Given the description of an element on the screen output the (x, y) to click on. 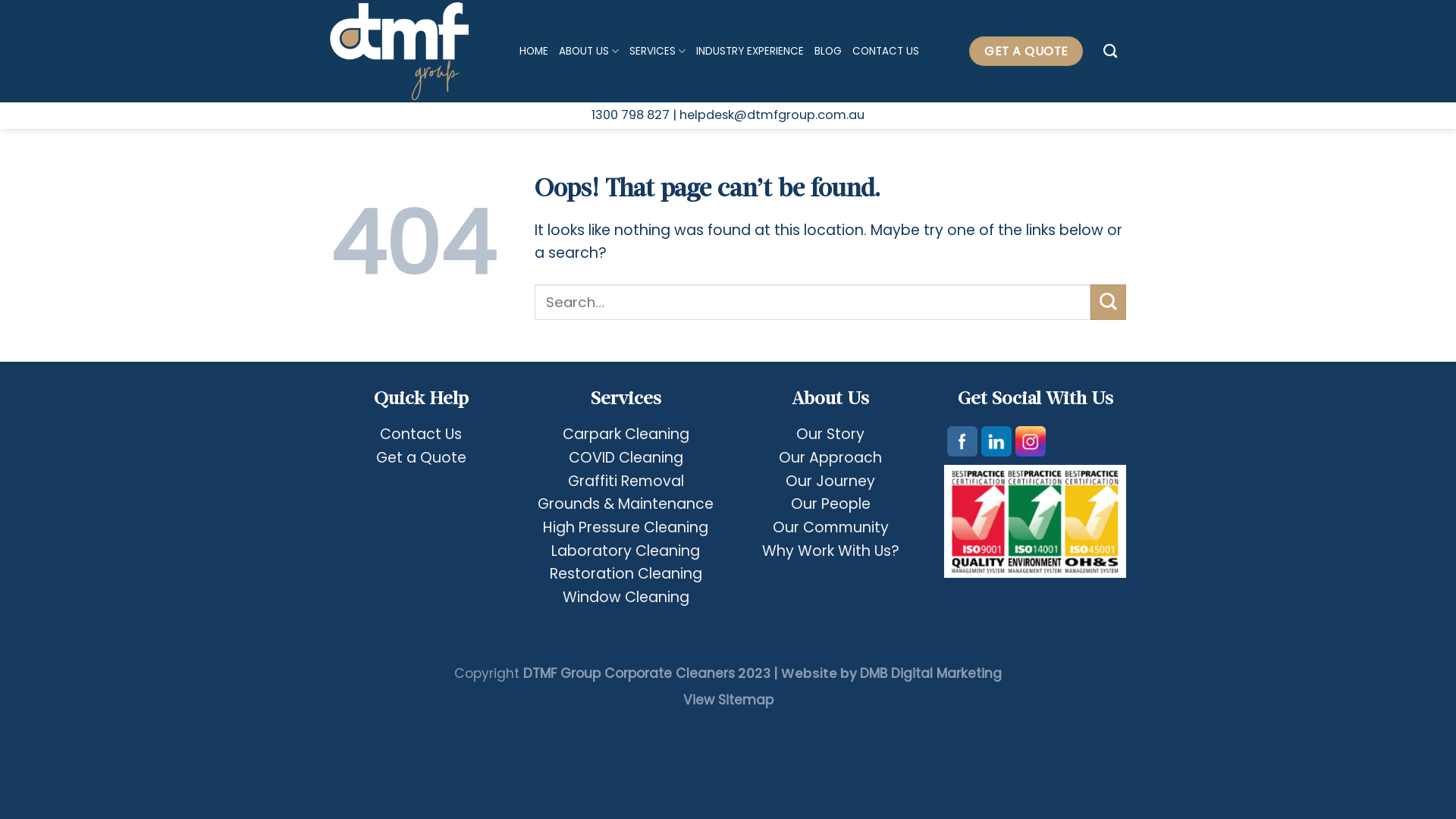
SERVICES Element type: text (657, 50)
Instagram Element type: hover (1030, 441)
COVID Cleaning Element type: text (625, 457)
LinkedIn Element type: hover (996, 441)
Facebook Element type: hover (962, 441)
Our Community Element type: text (829, 527)
DTMF Group Corporate Cleaners Element type: text (628, 673)
INDUSTRY EXPERIENCE Element type: text (749, 50)
Laboratory Cleaning Element type: text (625, 550)
1300 798 827 Element type: text (631, 114)
Our People Element type: text (829, 503)
Graffiti Removal Element type: text (625, 480)
HOME Element type: text (533, 50)
View Sitemap Element type: text (727, 699)
Window Cleaning Element type: text (625, 596)
Restoration Cleaning Element type: text (625, 573)
Contact Us Element type: text (420, 433)
DMB Digital Marketing Element type: text (930, 673)
High Pressure Cleaning Element type: text (625, 527)
Our Journey Element type: text (830, 480)
Why Work With Us? Element type: text (829, 550)
ABOUT US Element type: text (588, 50)
DTMF Group - Commercial Cleaning Services Element type: hover (412, 51)
CONTACT US Element type: text (885, 50)
BLOG Element type: text (827, 50)
GET A QUOTE Element type: text (1025, 51)
Our Story Element type: text (830, 433)
helpdesk@dtmfgroup.com.au Element type: text (771, 114)
Carpark Cleaning Element type: text (625, 433)
Get a Quote Element type: text (421, 457)
Grounds & Maintenance Element type: text (625, 503)
Our Approach Element type: text (829, 457)
